Given the description of an element on the screen output the (x, y) to click on. 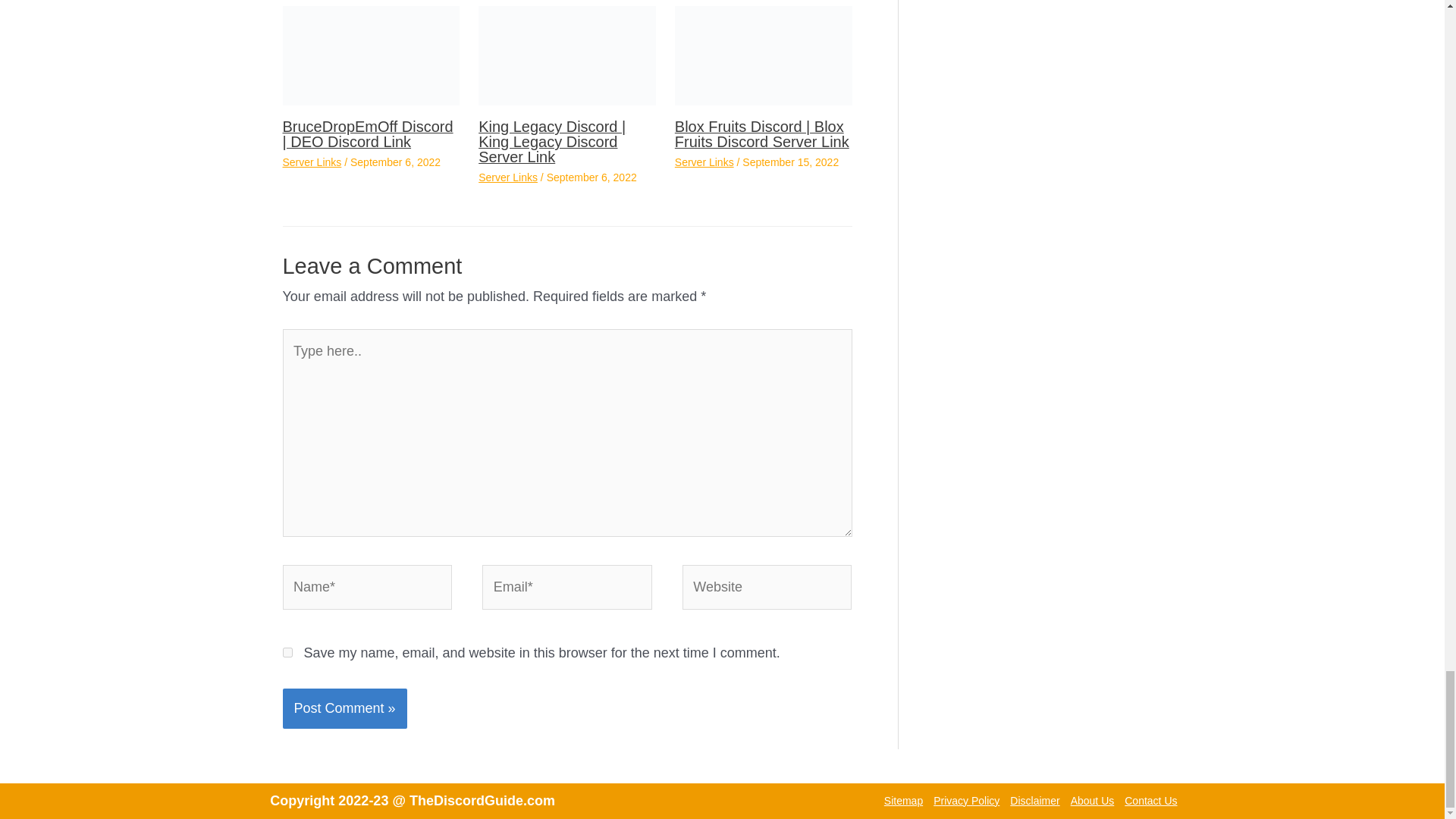
yes (287, 652)
